Given the description of an element on the screen output the (x, y) to click on. 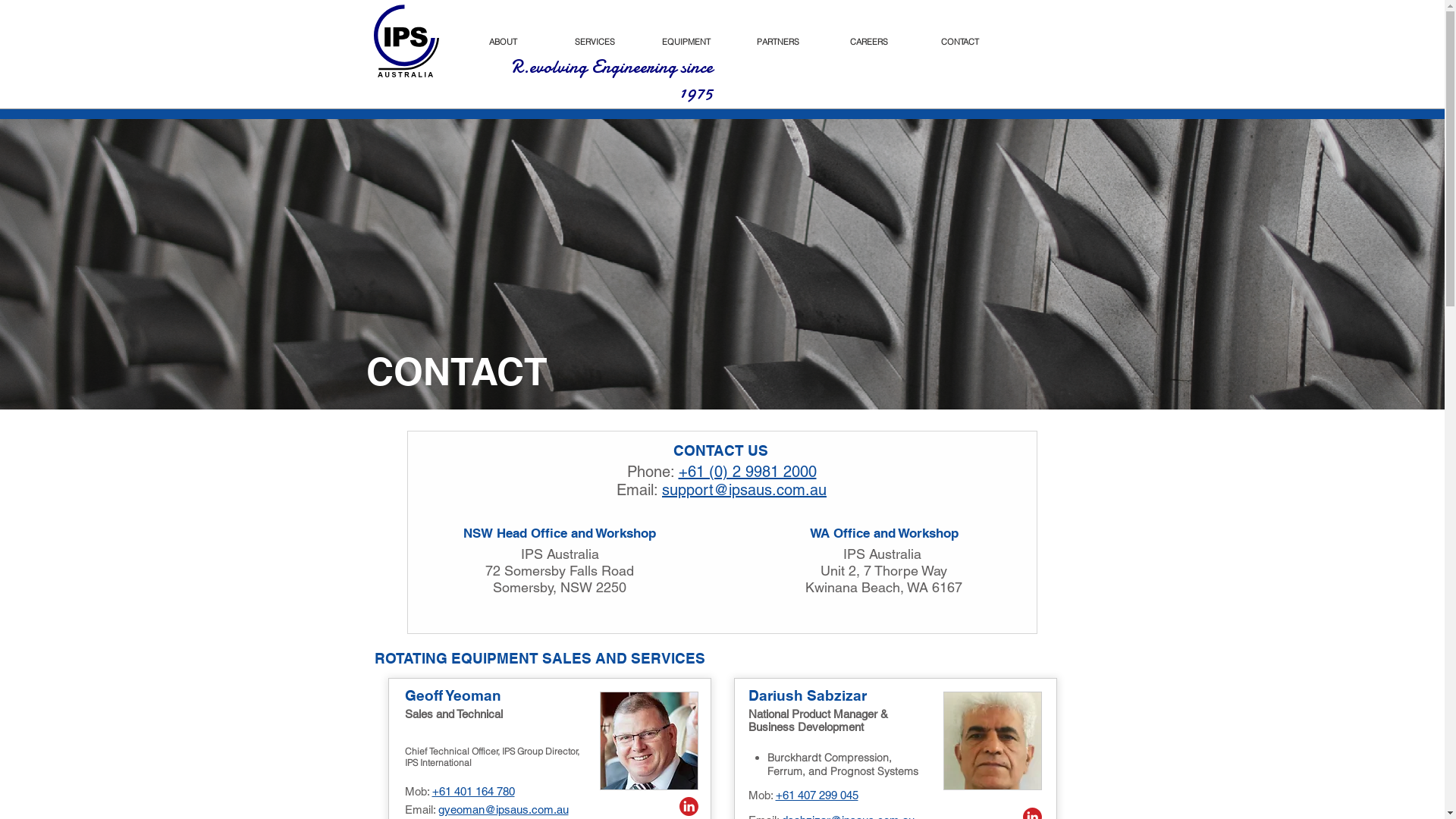
+61 407 299 045 Element type: text (816, 794)
PARTNERS Element type: text (777, 42)
CAREERS Element type: text (868, 42)
gyeoman@ipsaus.com.au Element type: text (503, 809)
ABOUT Element type: text (503, 42)
support@ipsaus.com.au Element type: text (744, 489)
EQUIPMENT Element type: text (685, 42)
+61 (0) 2 9981 2000 Element type: text (746, 471)
+61 401 164 780 Element type: text (473, 790)
CONTACT Element type: text (959, 42)
